Given the description of an element on the screen output the (x, y) to click on. 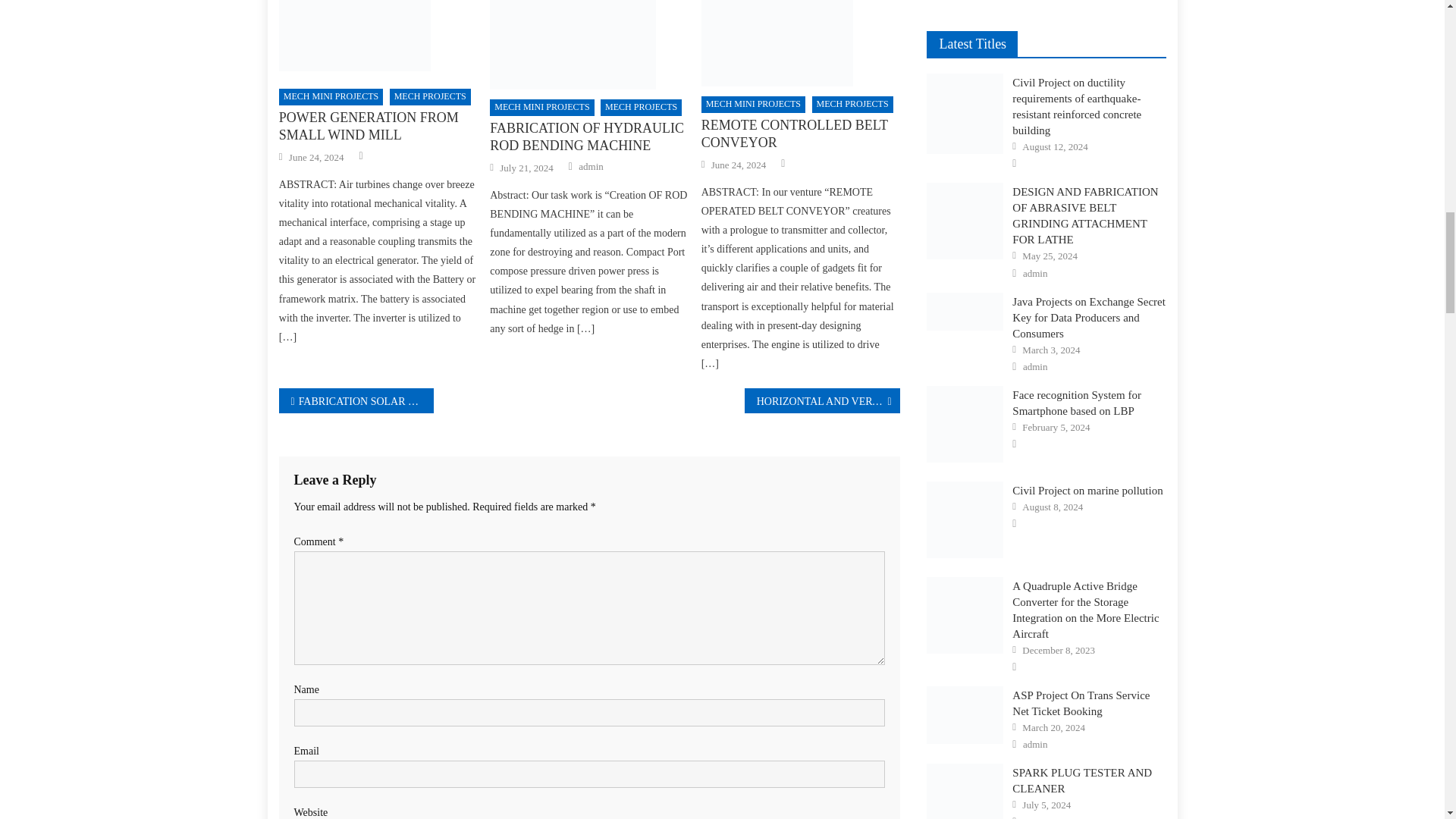
FABRICATION OF HYDRAULIC ROD BENDING MACHINE (588, 44)
POWER GENERATION FROM SMALL WIND MILL (378, 35)
REMOTE CONTROLLED BELT CONVEYOR (800, 43)
